Given the description of an element on the screen output the (x, y) to click on. 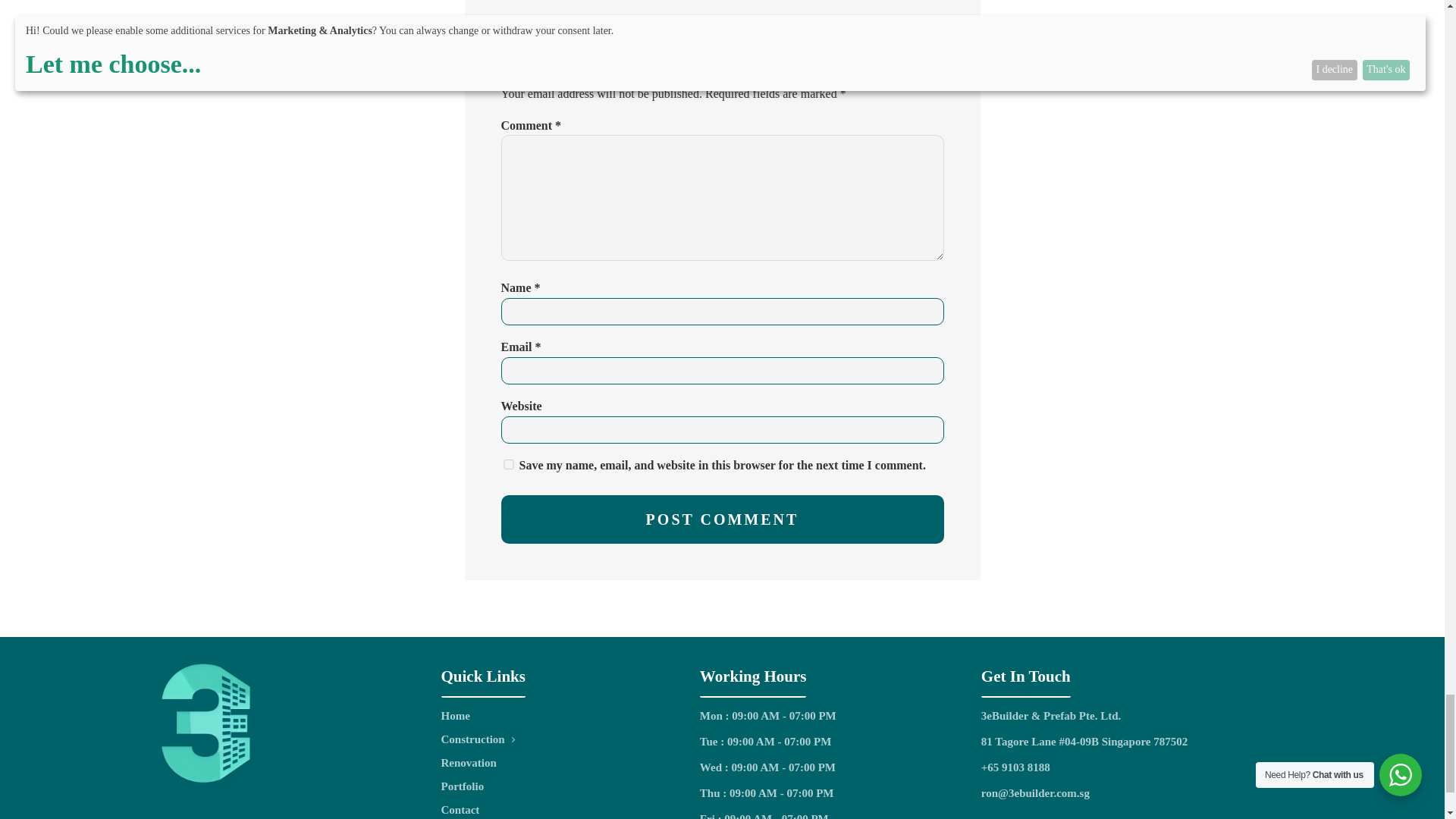
Construction (478, 739)
Portfolio (478, 786)
Contact (478, 808)
Home (478, 716)
Renovation (478, 762)
yes (507, 464)
Post Comment (721, 519)
Post Comment (721, 519)
